Given the description of an element on the screen output the (x, y) to click on. 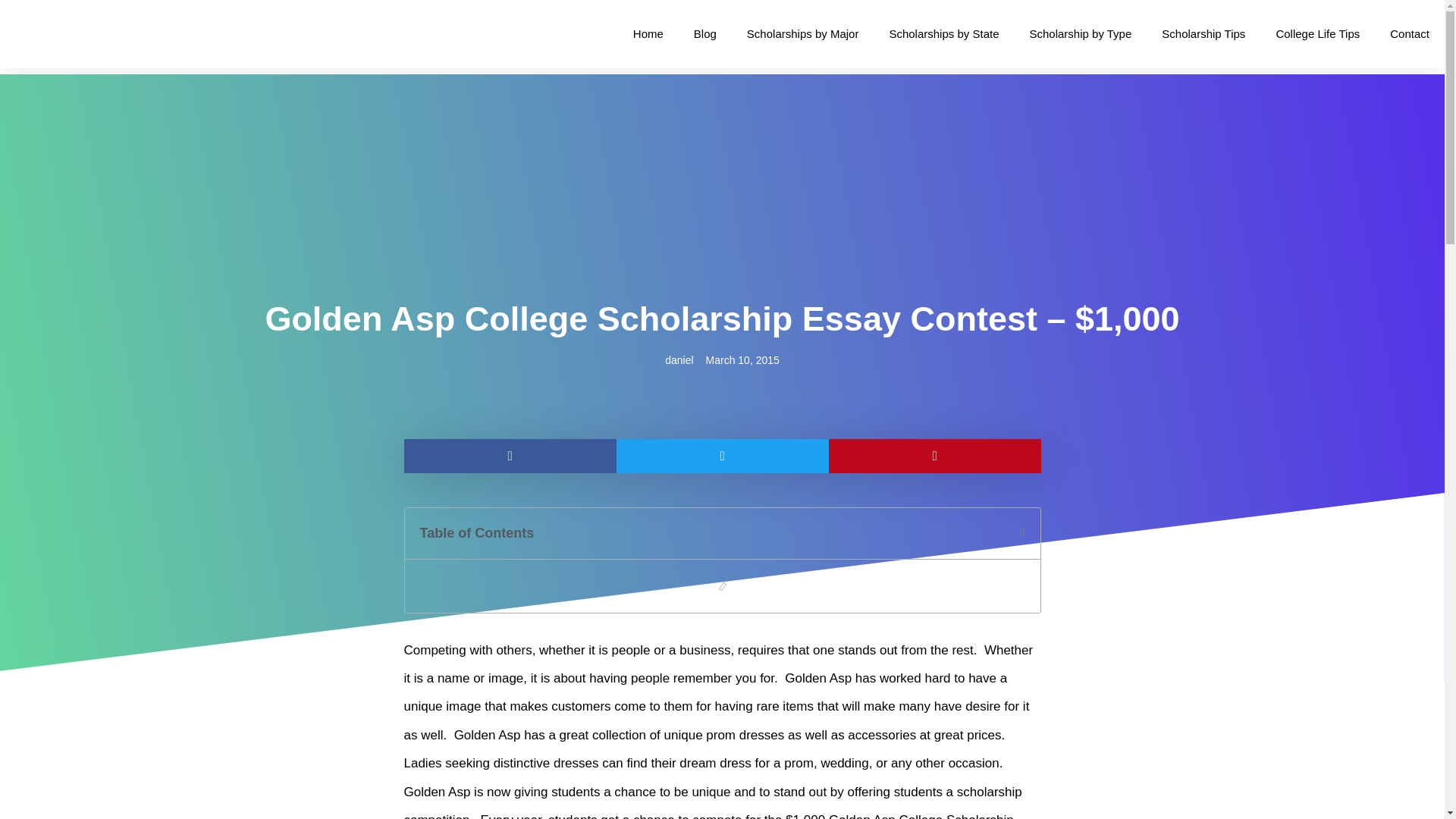
College Life Tips (1317, 33)
Scholarship by Type (1080, 33)
March 10, 2015 (742, 361)
Home (647, 33)
Scholarships by State (943, 33)
Scholarship Tips (1203, 33)
getusscholarships-logo (84, 33)
Scholarships by Major (803, 33)
daniel (679, 361)
